Given the description of an element on the screen output the (x, y) to click on. 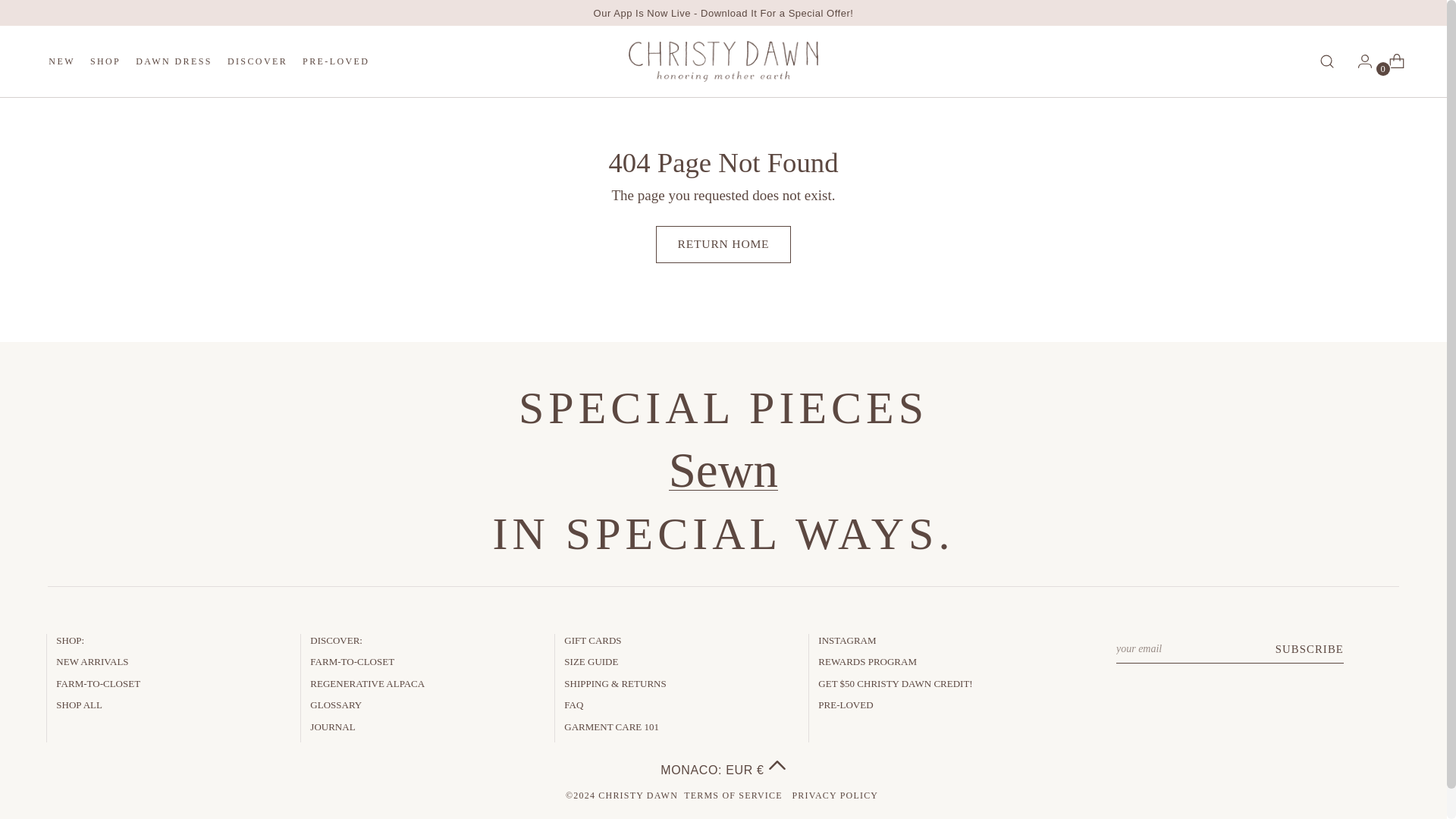
SHOP (105, 61)
Our App Is Now Live - Download It For a Special Offer! (723, 12)
DAWN DRESS (173, 61)
PRE-LOVED (335, 61)
DISCOVER (208, 61)
